Given the description of an element on the screen output the (x, y) to click on. 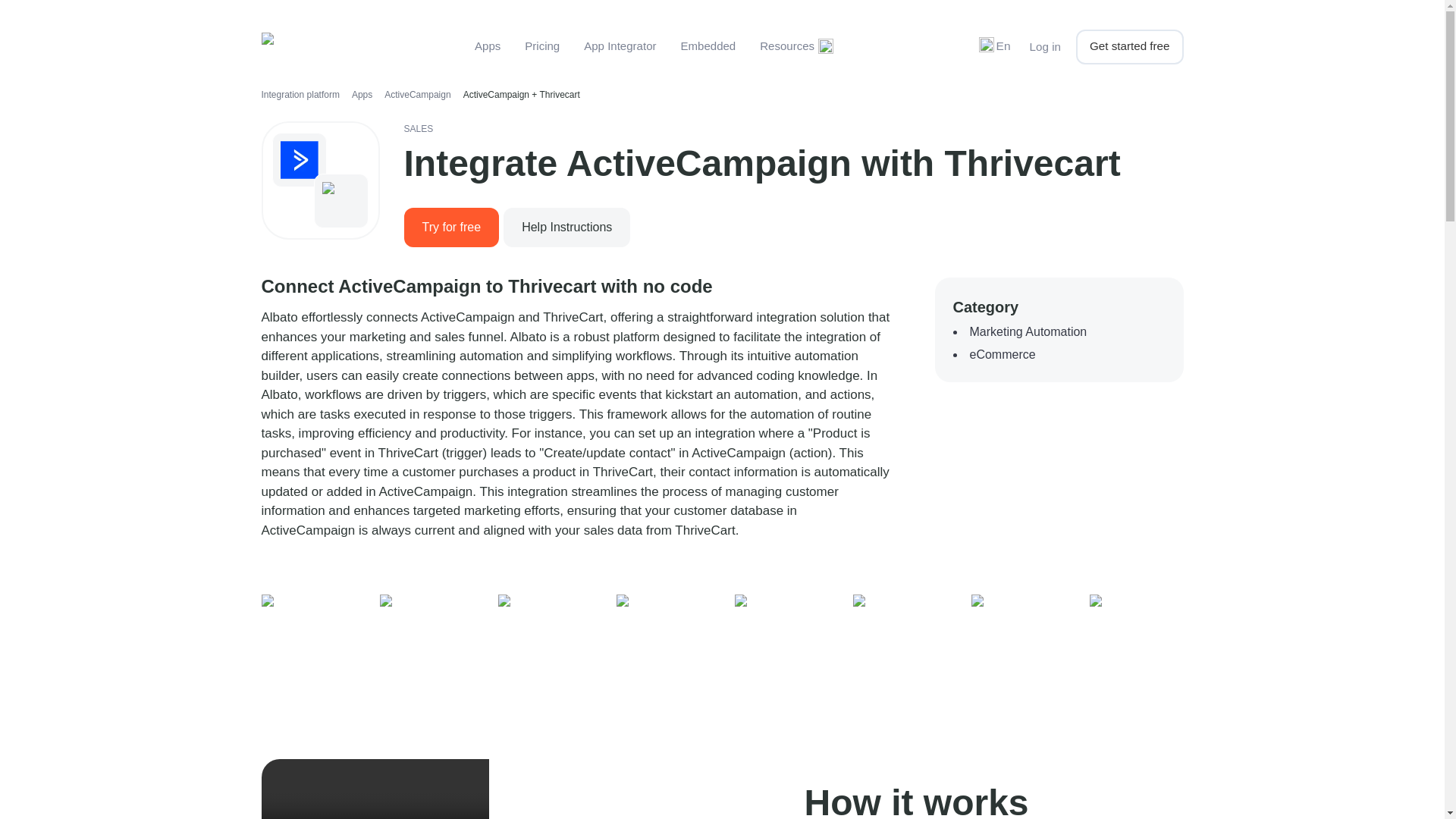
Try for free (451, 227)
Pricing (541, 45)
Embedded (708, 45)
Log in (1044, 47)
Apps (487, 45)
App Integrator (619, 45)
Integration platform (299, 94)
Help Instructions (566, 226)
Apps (362, 94)
ActiveCampaign (416, 94)
